Given the description of an element on the screen output the (x, y) to click on. 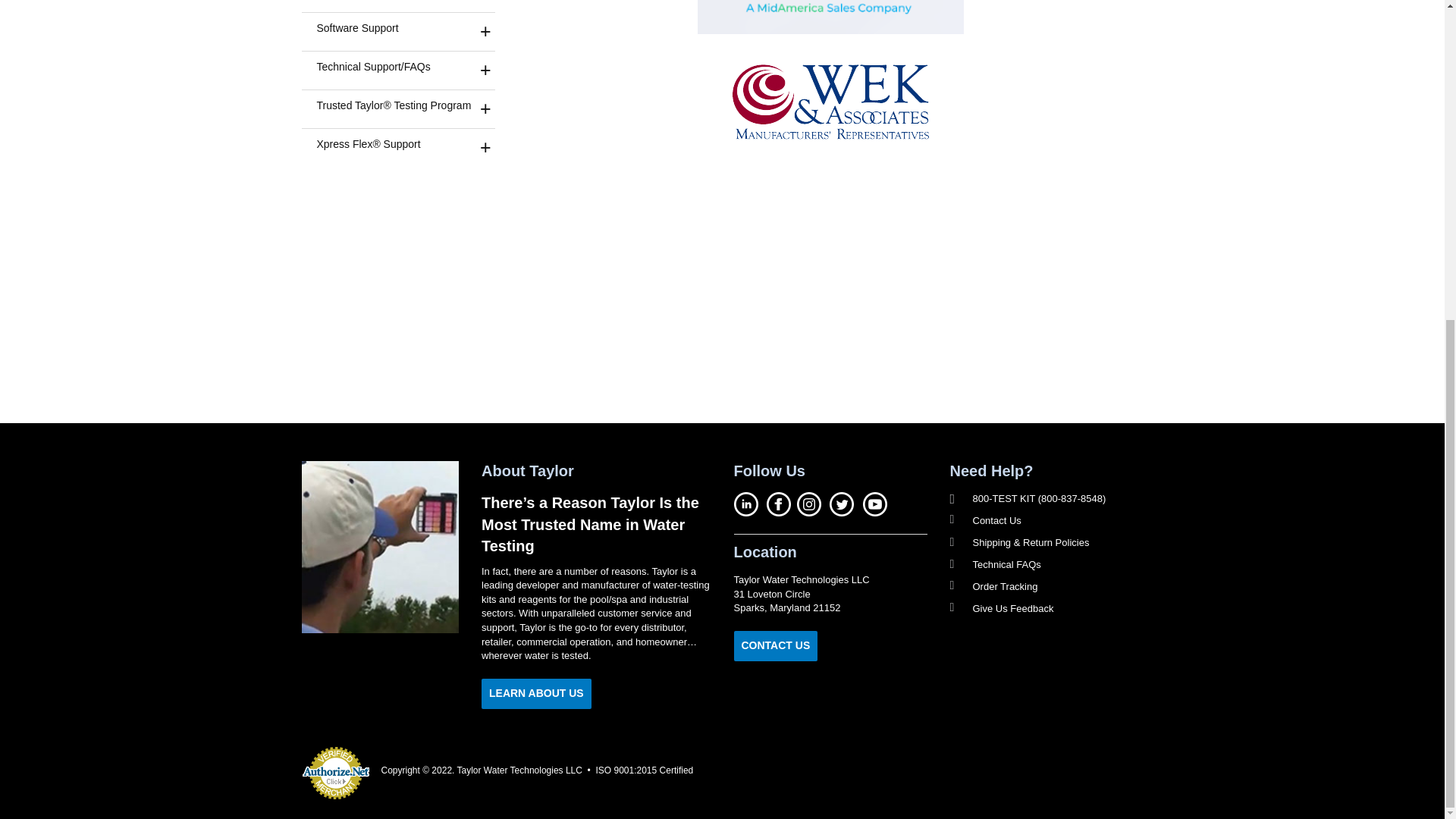
Learn About Us (536, 693)
Contact Us (775, 645)
